Given the description of an element on the screen output the (x, y) to click on. 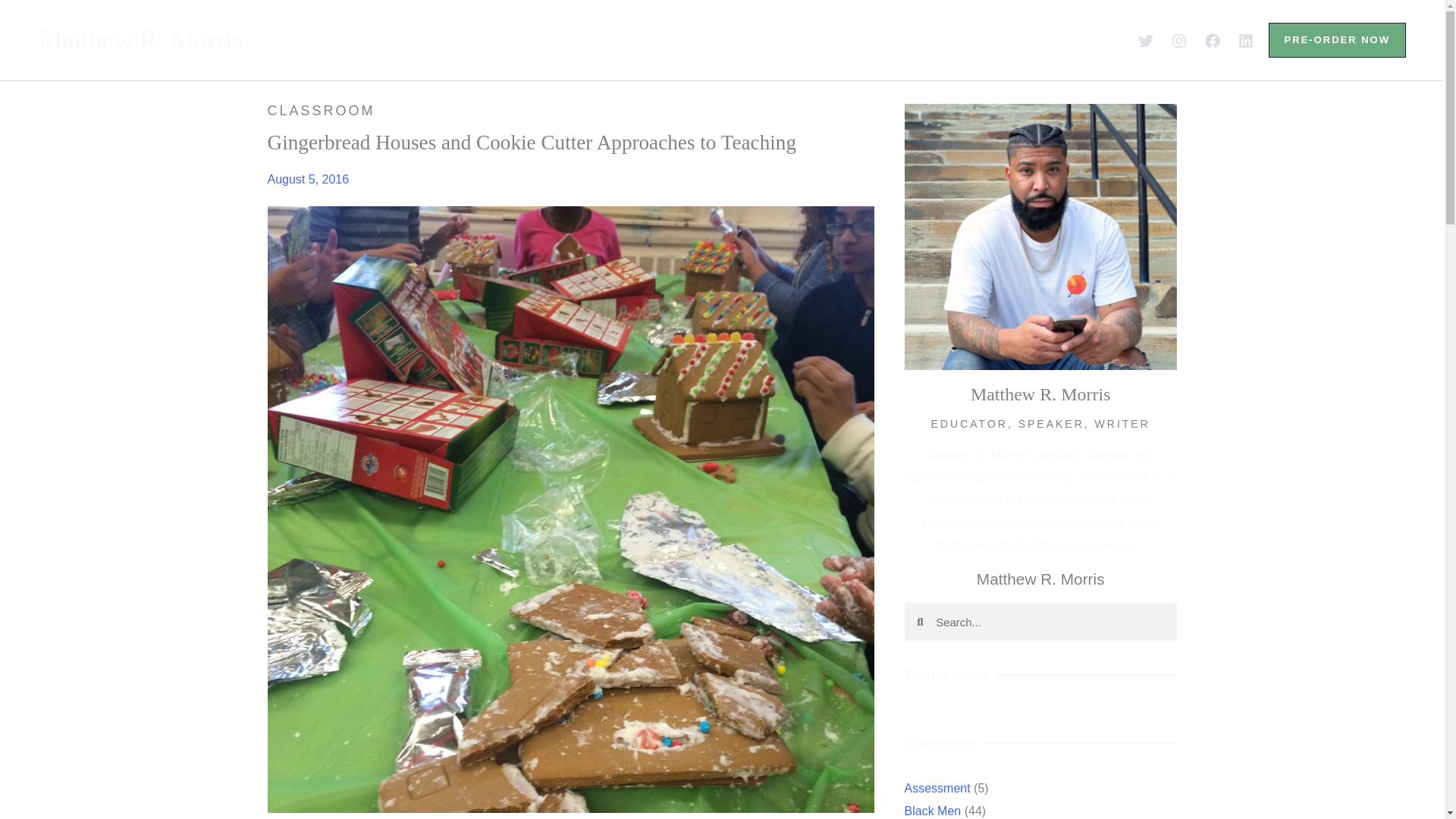
Assessment (976, 788)
BLACK BOYS LIKE ME (631, 39)
BLOG (775, 39)
Matthew R. Morris (141, 39)
ABOUT (481, 39)
Black Men (965, 810)
PRESS (856, 39)
CONTACT (953, 39)
PRE-ORDER NOW (1337, 39)
